Given the description of an element on the screen output the (x, y) to click on. 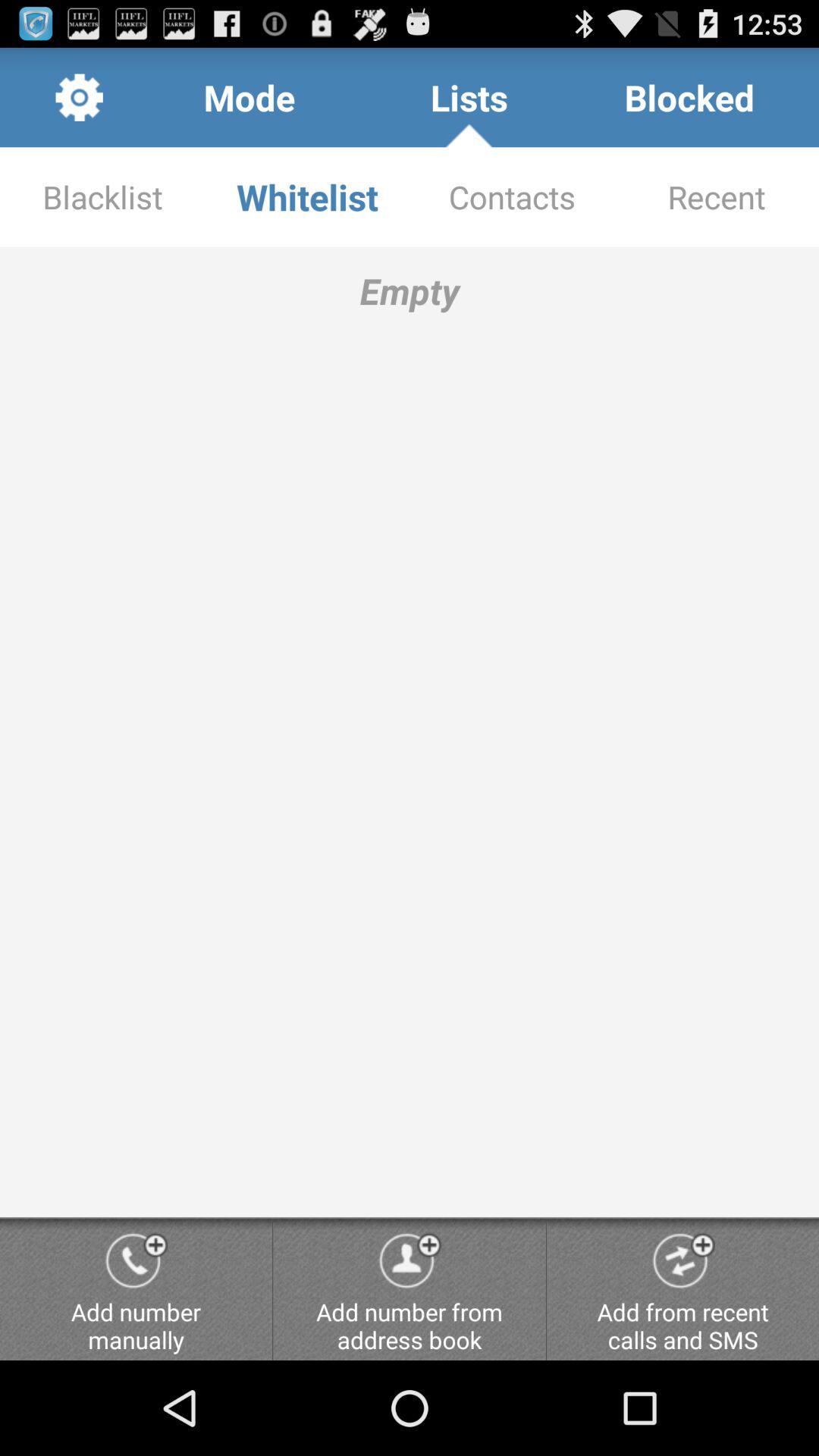
turn off the item to the left of the contacts app (306, 196)
